Given the description of an element on the screen output the (x, y) to click on. 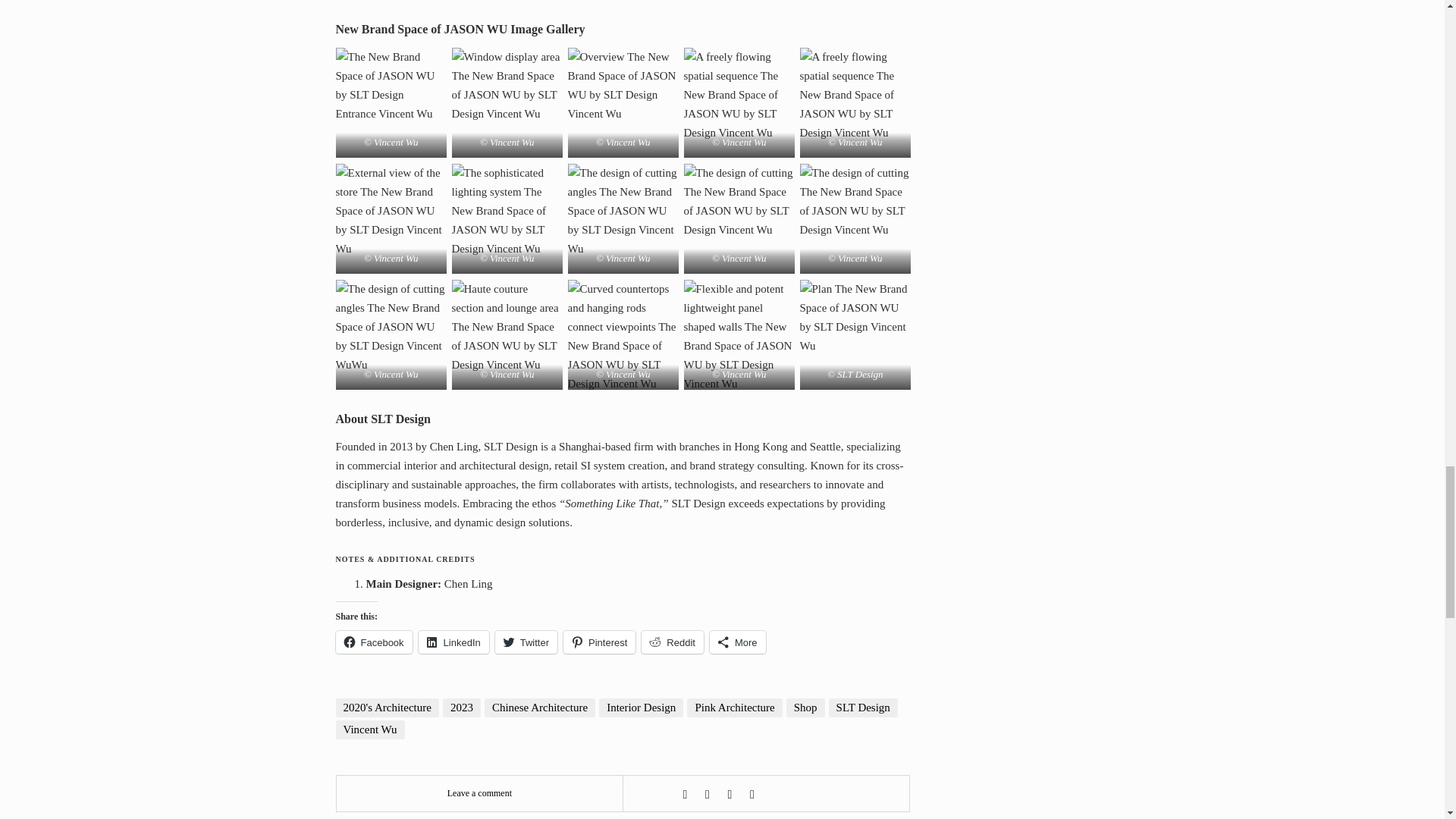
Click to share on Reddit (672, 641)
Pinterest (598, 641)
Facebook (373, 641)
Click to share on LinkedIn (454, 641)
LinkedIn (454, 641)
Reddit (672, 641)
Click to share on Pinterest (598, 641)
Twitter (526, 641)
Click to share on Facebook (373, 641)
Click to share on Twitter (526, 641)
